Given the description of an element on the screen output the (x, y) to click on. 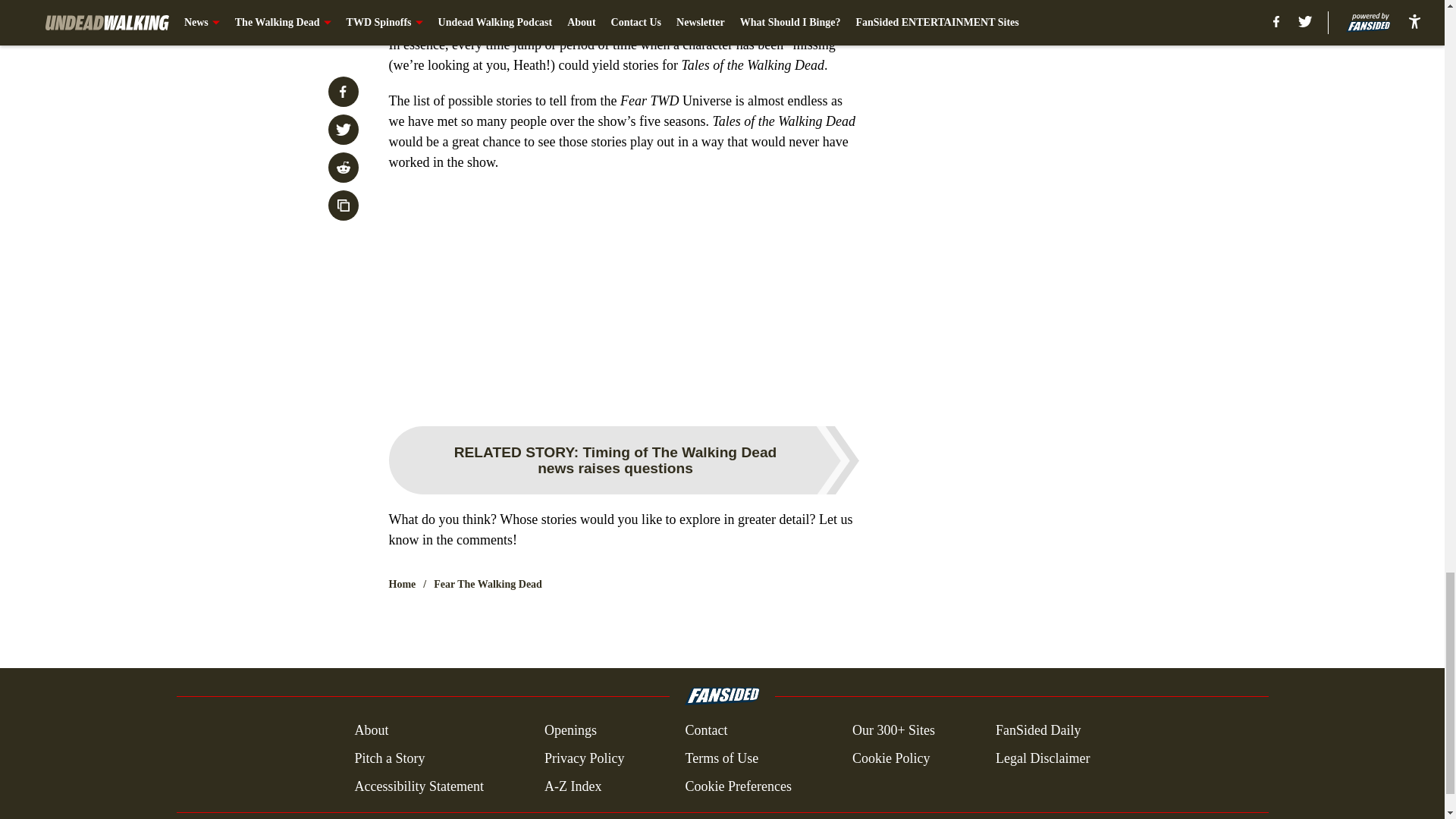
Openings (570, 730)
Home (401, 584)
About (370, 730)
Fear The Walking Dead (487, 584)
Pitch a Story (389, 758)
Contact (705, 730)
FanSided Daily (1038, 730)
